Given the description of an element on the screen output the (x, y) to click on. 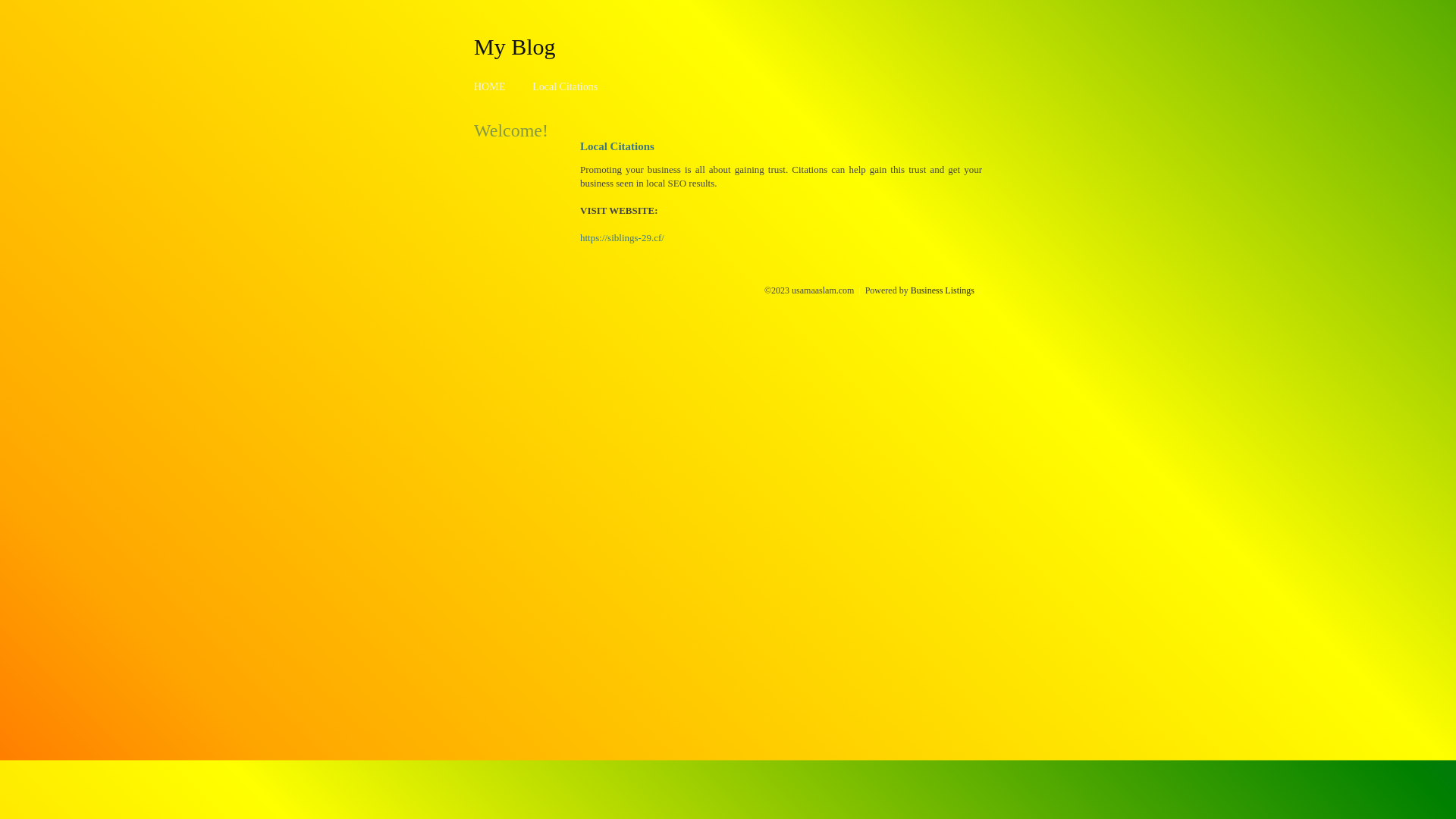
Local Citations Element type: text (564, 86)
HOME Element type: text (489, 86)
My Blog Element type: text (514, 46)
Business Listings Element type: text (942, 290)
https://siblings-29.cf/ Element type: text (622, 237)
